Given the description of an element on the screen output the (x, y) to click on. 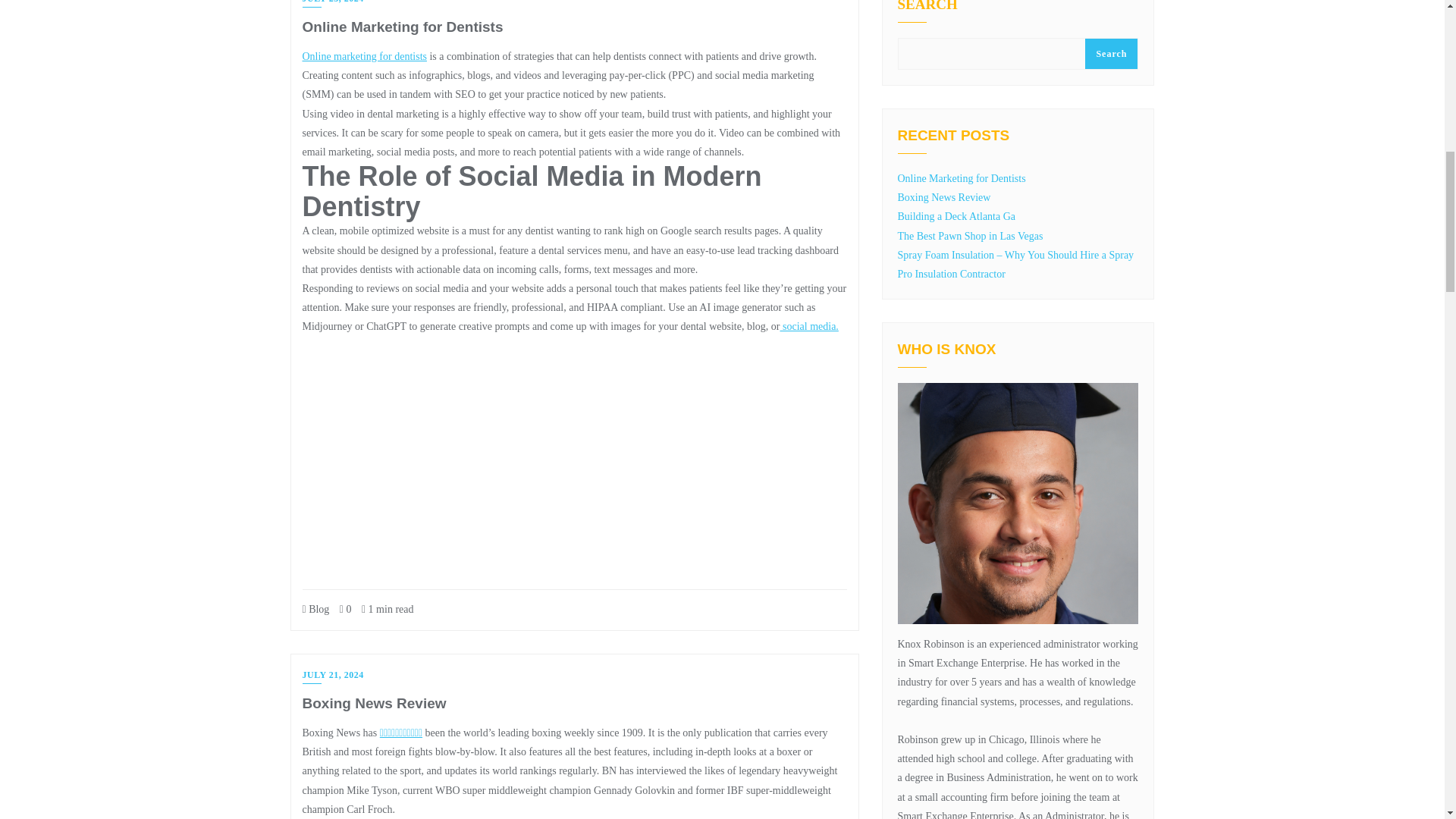
Boxing News Review (373, 703)
Online Marketing for Dentists (401, 26)
Online marketing for dentists (363, 56)
social media. (808, 326)
0 (345, 609)
JULY 23, 2024 (331, 3)
Blog (315, 609)
JULY 21, 2024 (331, 676)
